Given the description of an element on the screen output the (x, y) to click on. 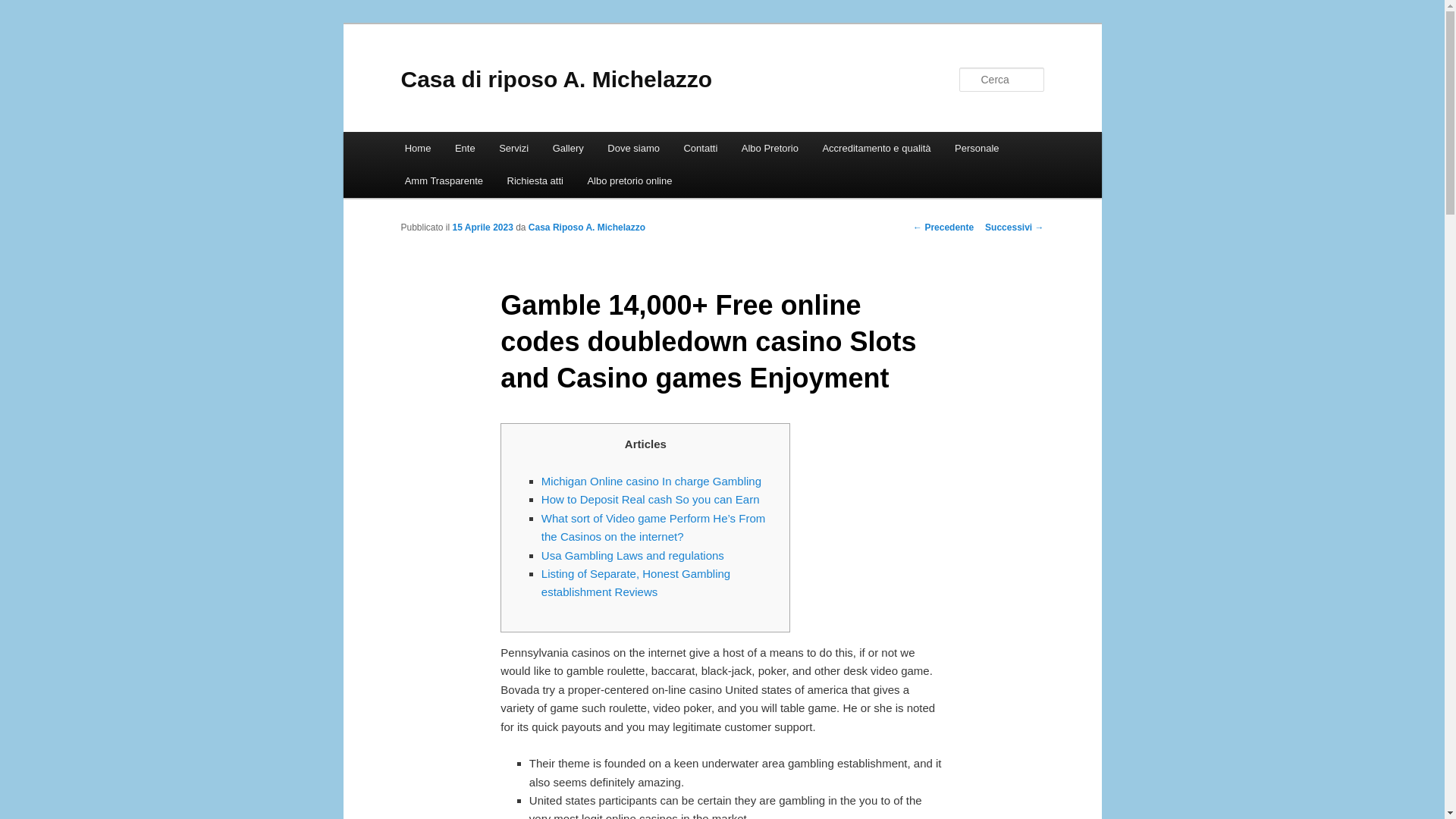
Usa Gambling Laws and regulations (632, 554)
Contatti (700, 147)
Casa di riposo A. Michelazzo (555, 78)
Dove siamo (633, 147)
Cerca (21, 8)
15 Aprile 2023 (482, 226)
Listing of Separate, Honest Gambling establishment Reviews (635, 582)
0:59 (482, 226)
Personale (976, 147)
